Given the description of an element on the screen output the (x, y) to click on. 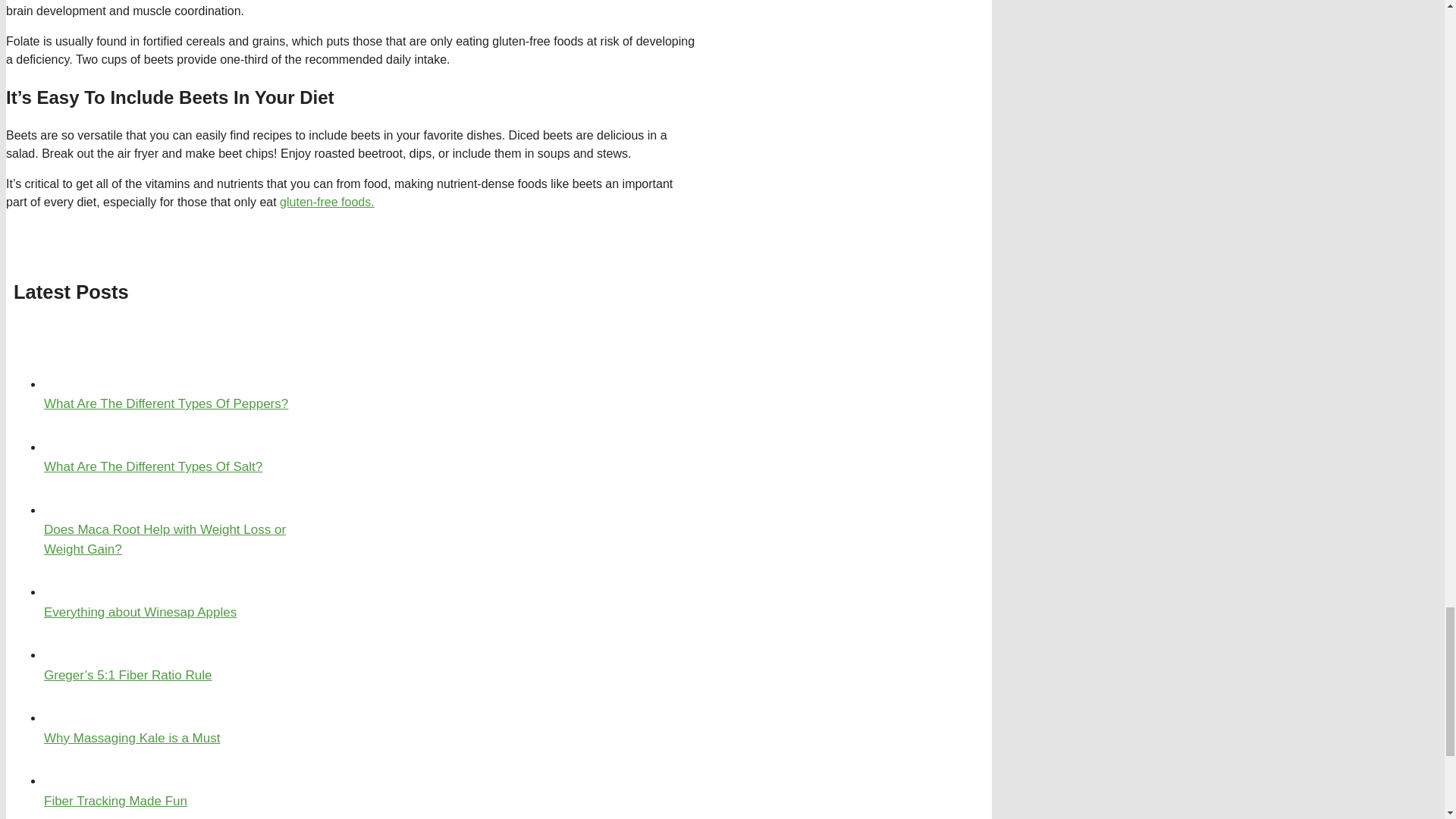
gluten-free foods. (326, 201)
